Given the description of an element on the screen output the (x, y) to click on. 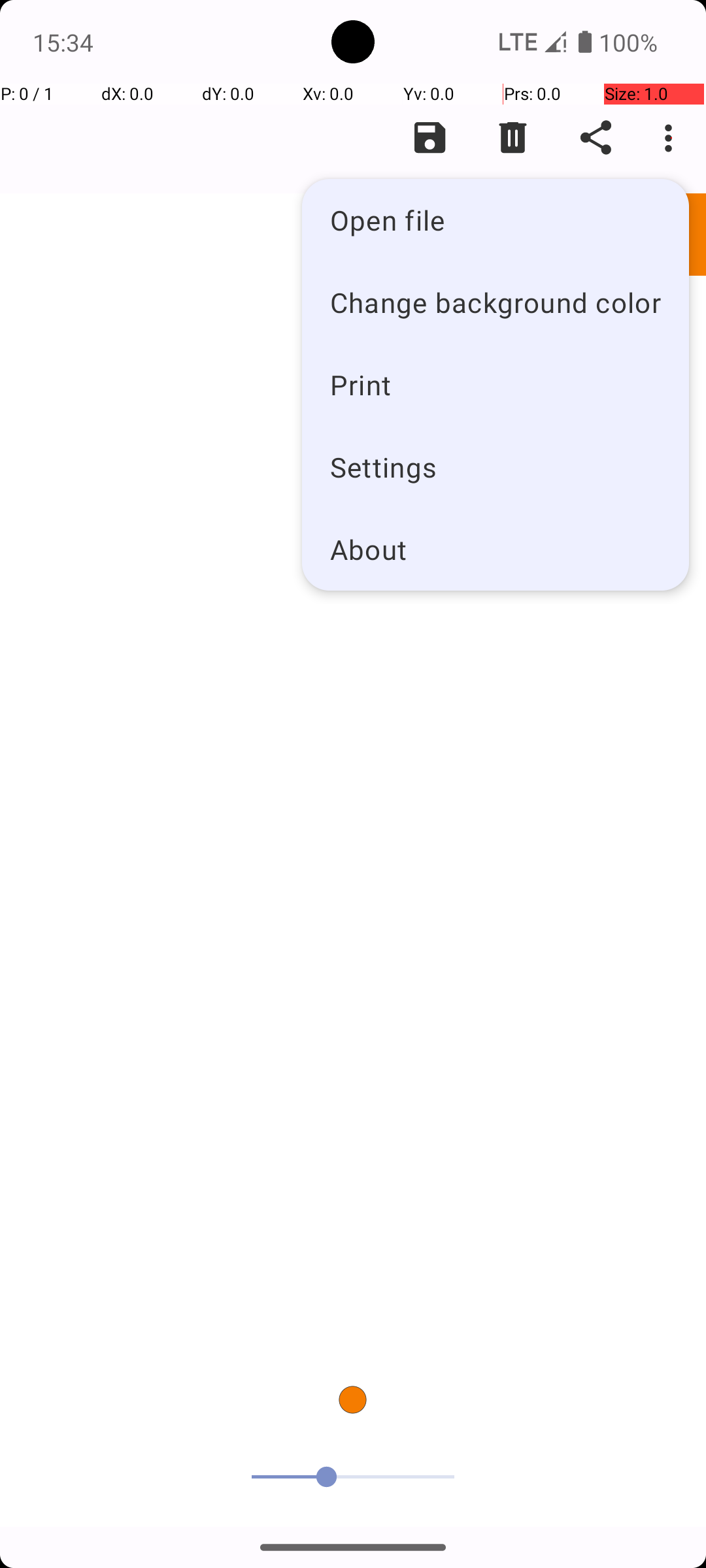
Open file Element type: android.widget.TextView (495, 219)
Change background color Element type: android.widget.TextView (495, 301)
Print Element type: android.widget.TextView (495, 384)
